Given the description of an element on the screen output the (x, y) to click on. 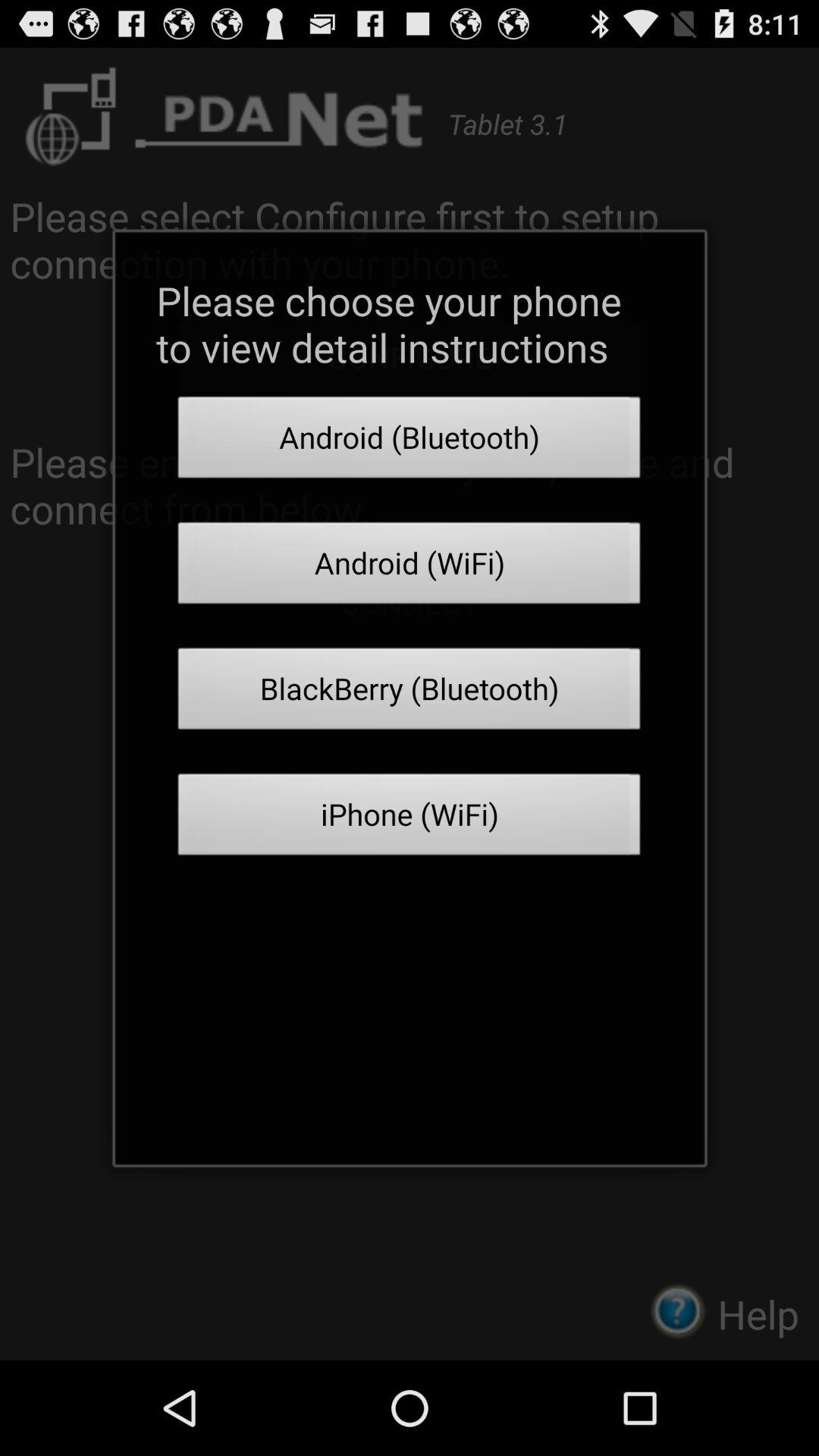
turn on the icon below please choose your app (409, 441)
